Given the description of an element on the screen output the (x, y) to click on. 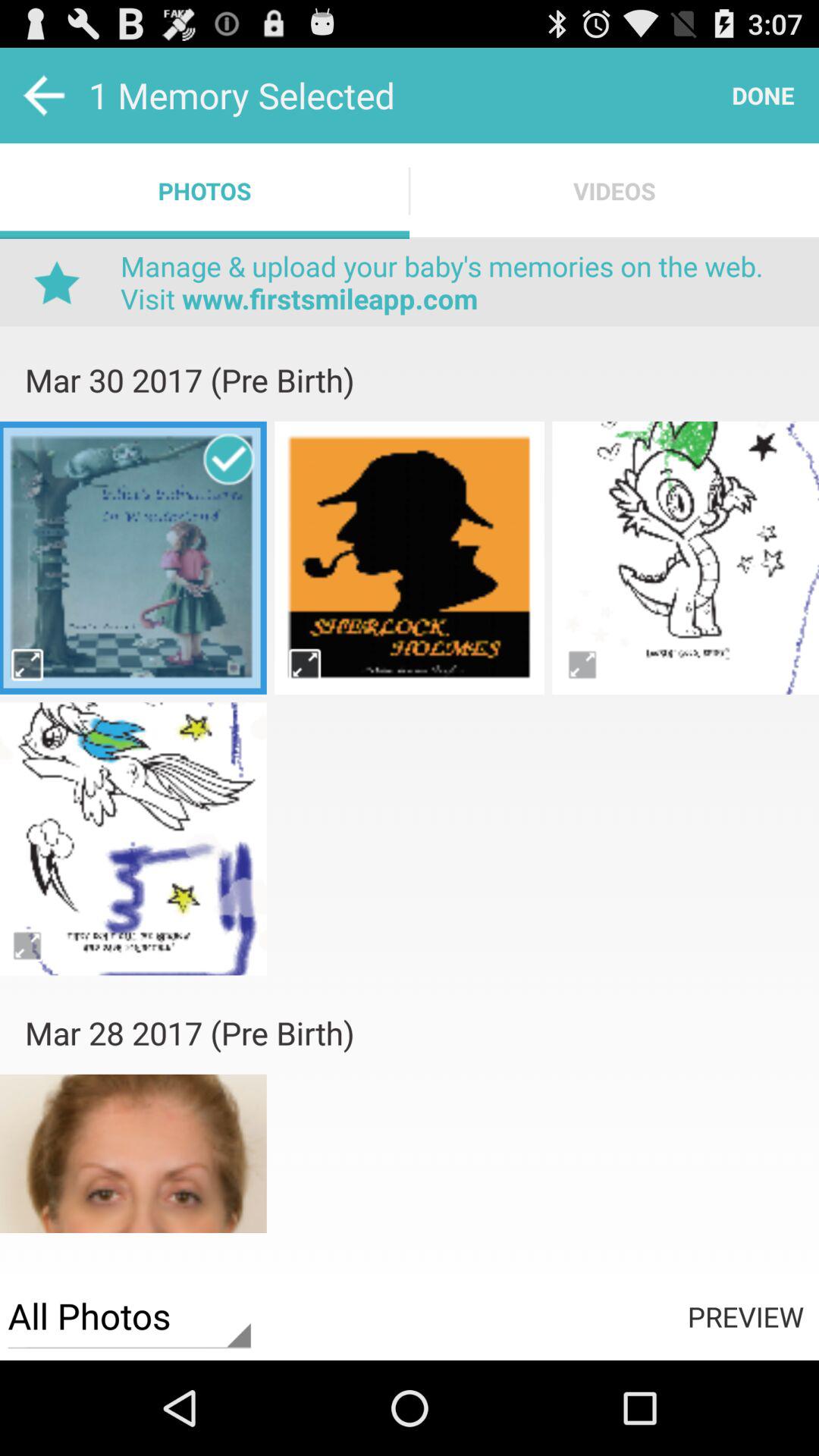
advertisement (409, 719)
